Given the description of an element on the screen output the (x, y) to click on. 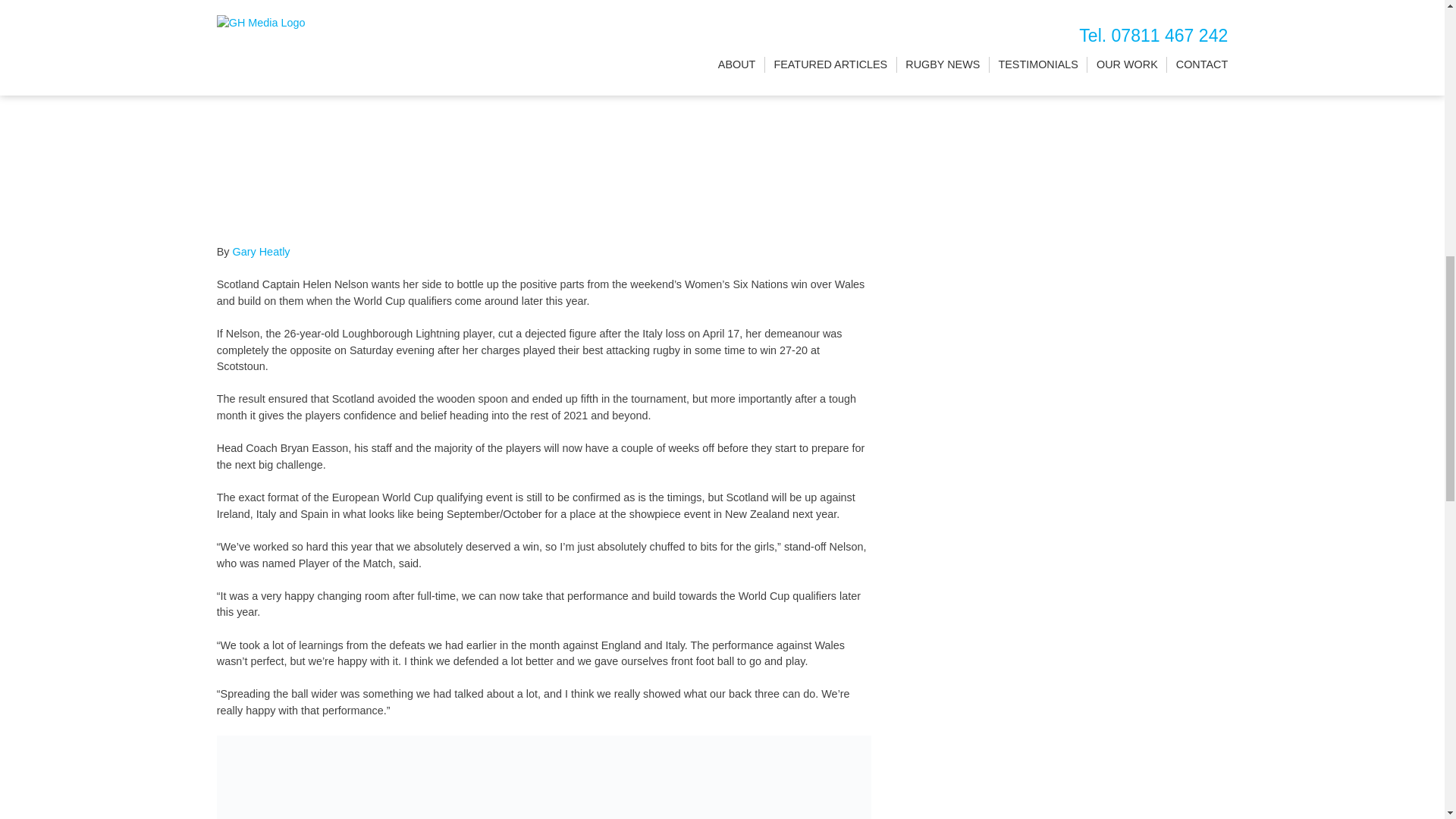
Gary Heatly (260, 251)
